Given the description of an element on the screen output the (x, y) to click on. 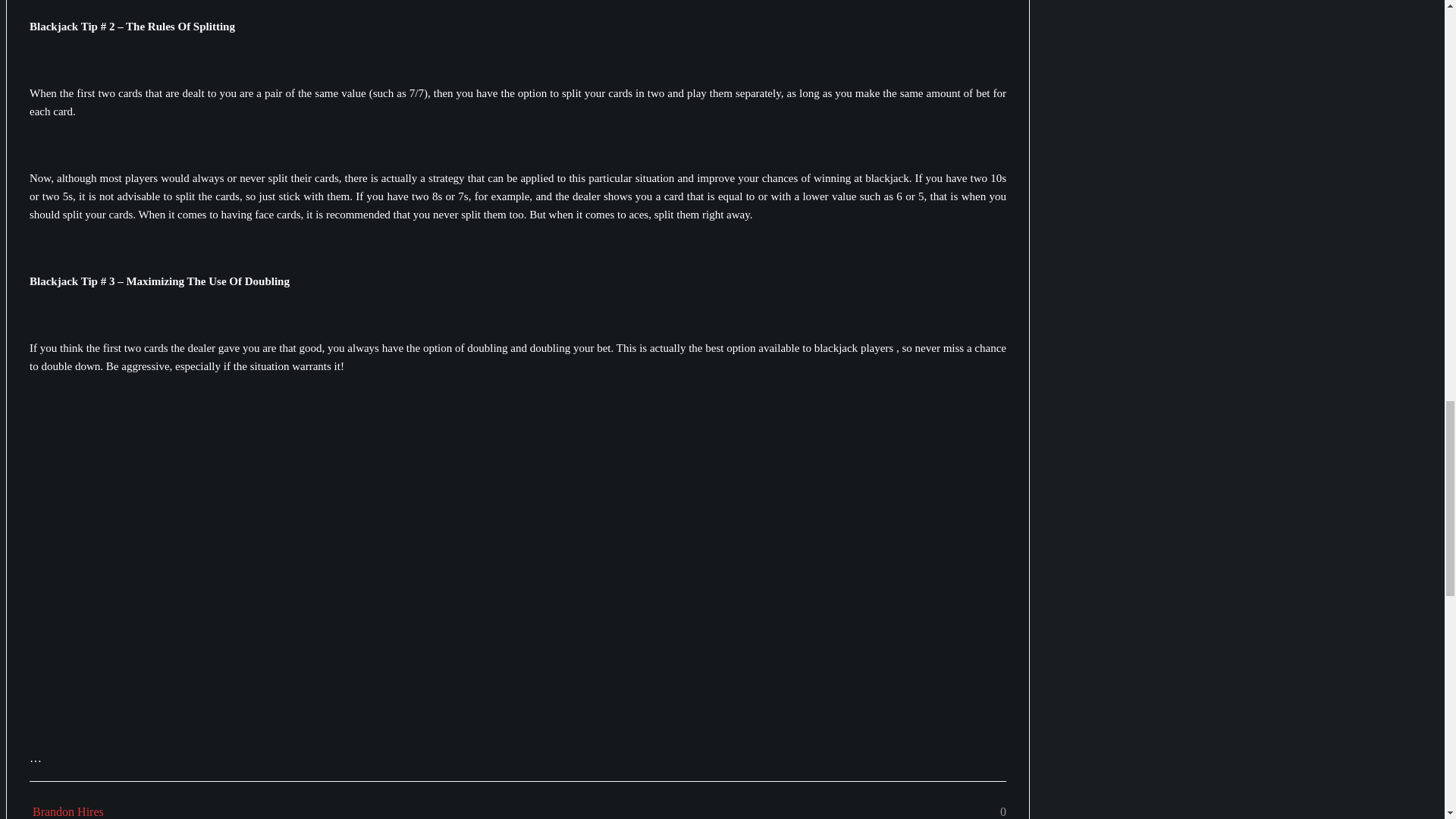
Brandon Hires (66, 807)
